Given the description of an element on the screen output the (x, y) to click on. 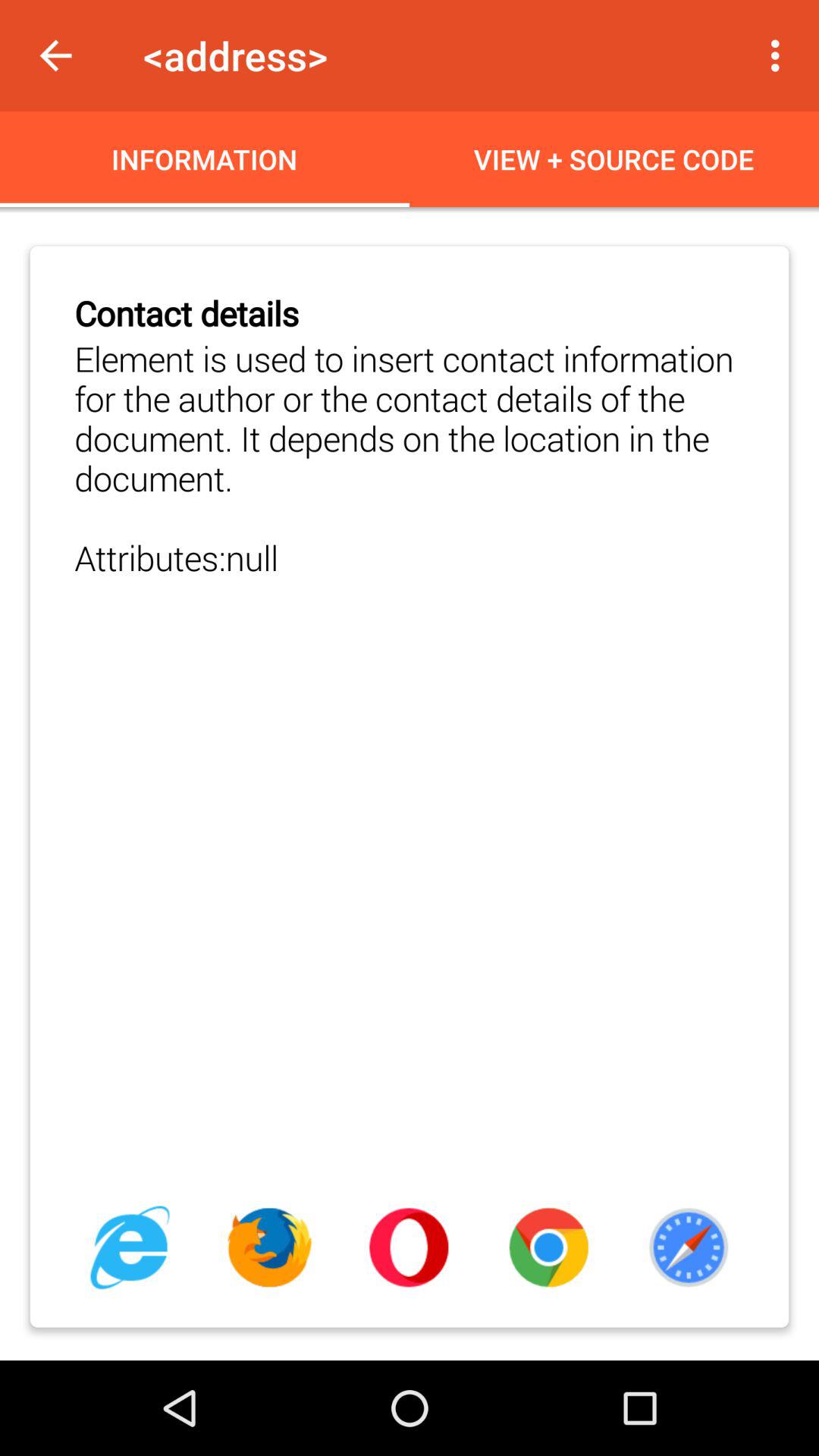
turn off the item above the view + source code icon (779, 55)
